Given the description of an element on the screen output the (x, y) to click on. 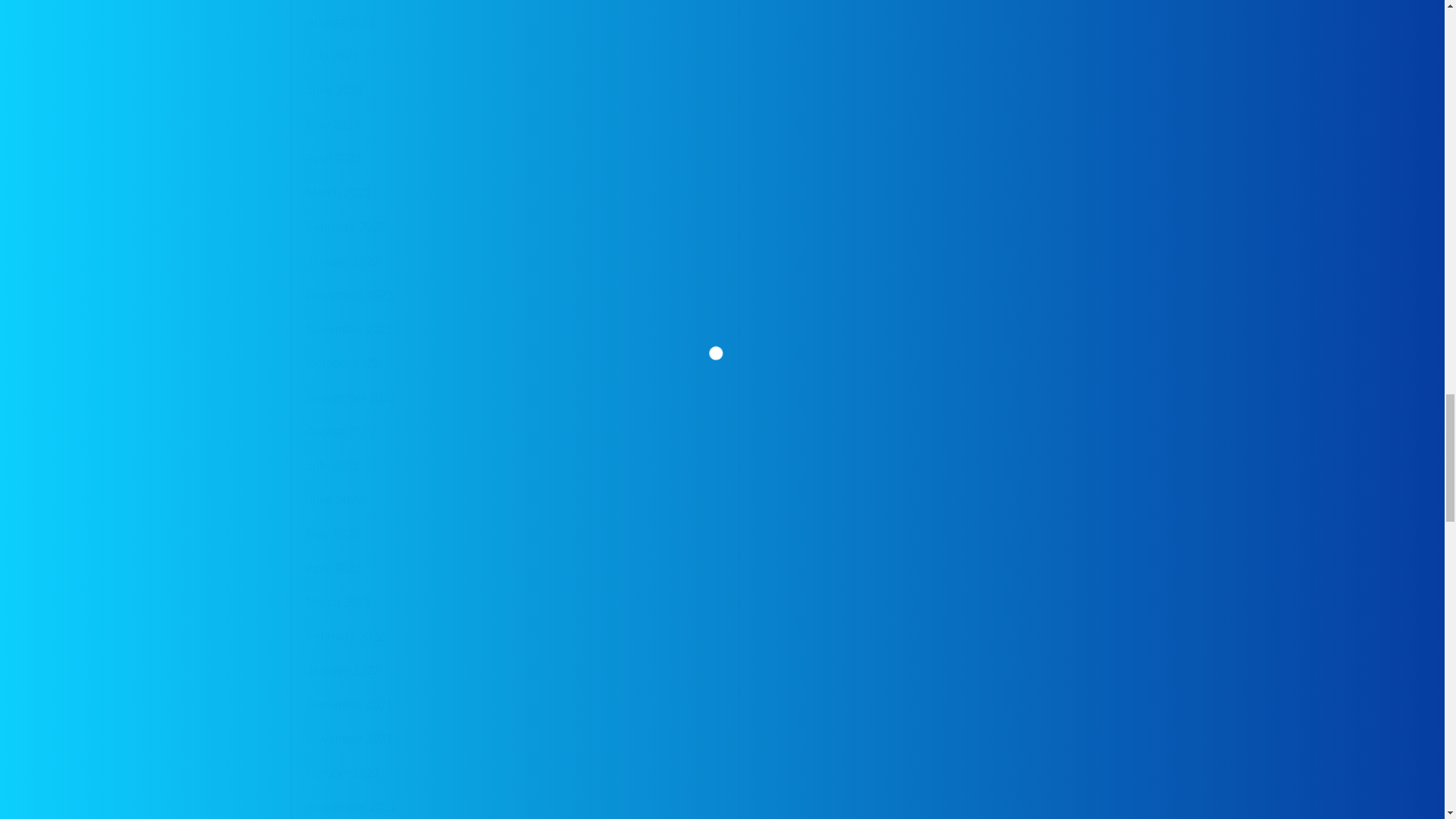
May 2023 (332, 124)
January 2023 (342, 261)
September 2023 (350, 2)
August 2023 (339, 22)
March 2023 (338, 192)
February 2023 (345, 227)
April 2023 (333, 159)
June 2023 (333, 90)
July 2023 (331, 56)
December 2022 (349, 295)
